Given the description of an element on the screen output the (x, y) to click on. 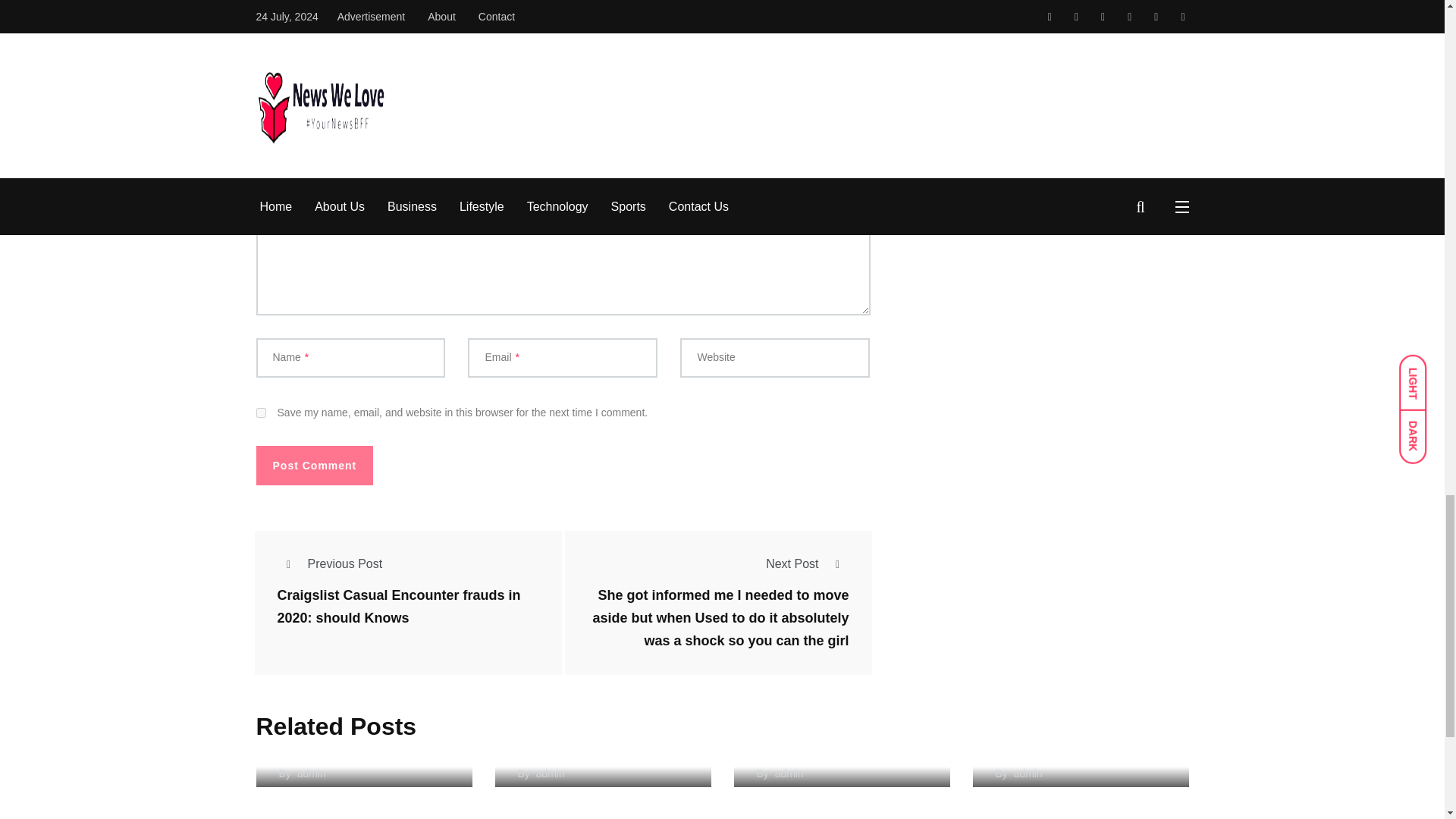
Posts by admin (311, 773)
yes (261, 412)
Post Comment (315, 465)
